Given the description of an element on the screen output the (x, y) to click on. 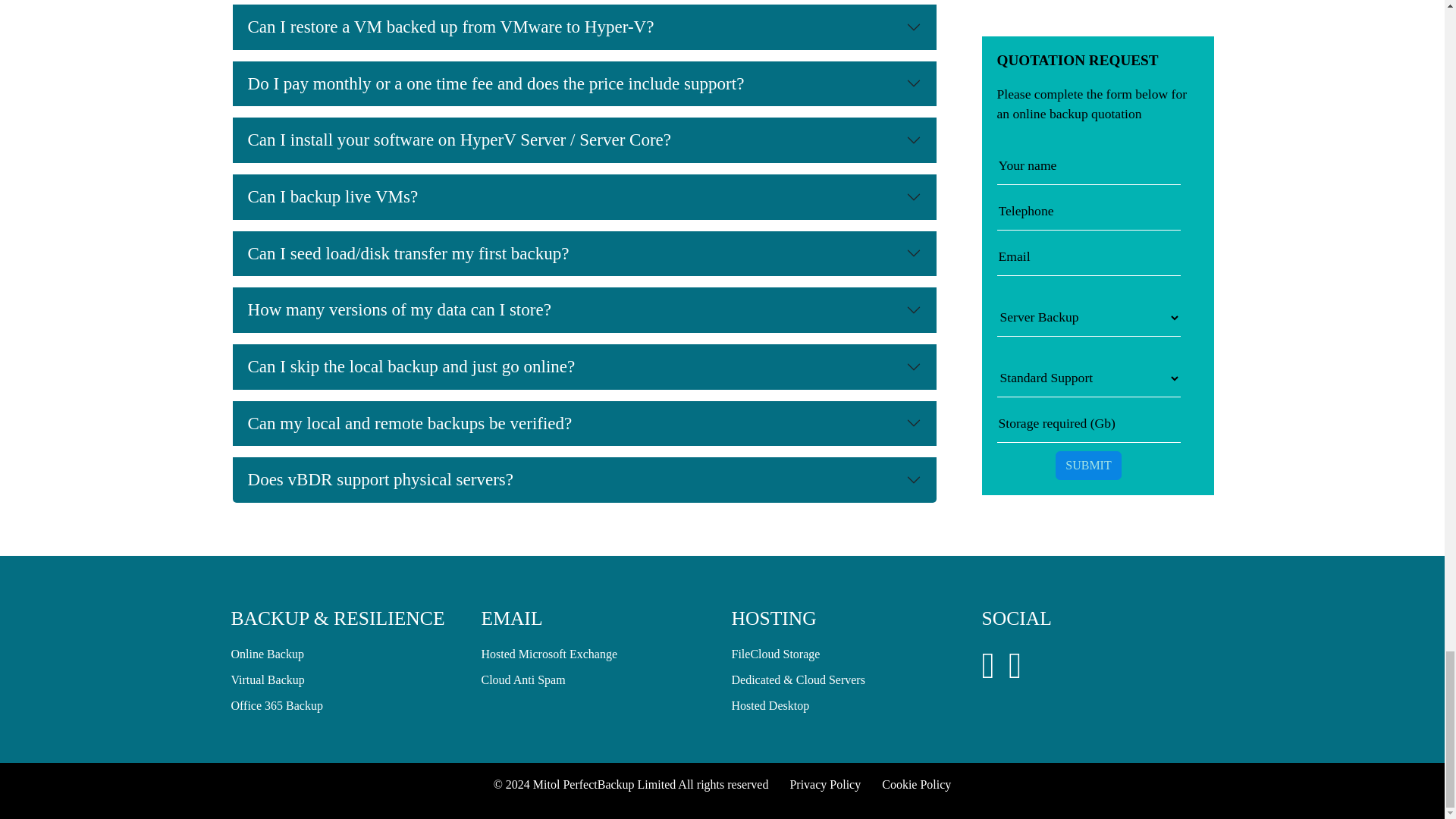
Can my local and remote backups be verified? (583, 423)
Can I restore a VM backed up from VMware to Hyper-V? (583, 26)
Can I skip the local backup and just go online? (583, 366)
Does vBDR support physical servers? (583, 479)
How many versions of my data can I store? (583, 309)
Can I backup live VMs? (583, 197)
